Given the description of an element on the screen output the (x, y) to click on. 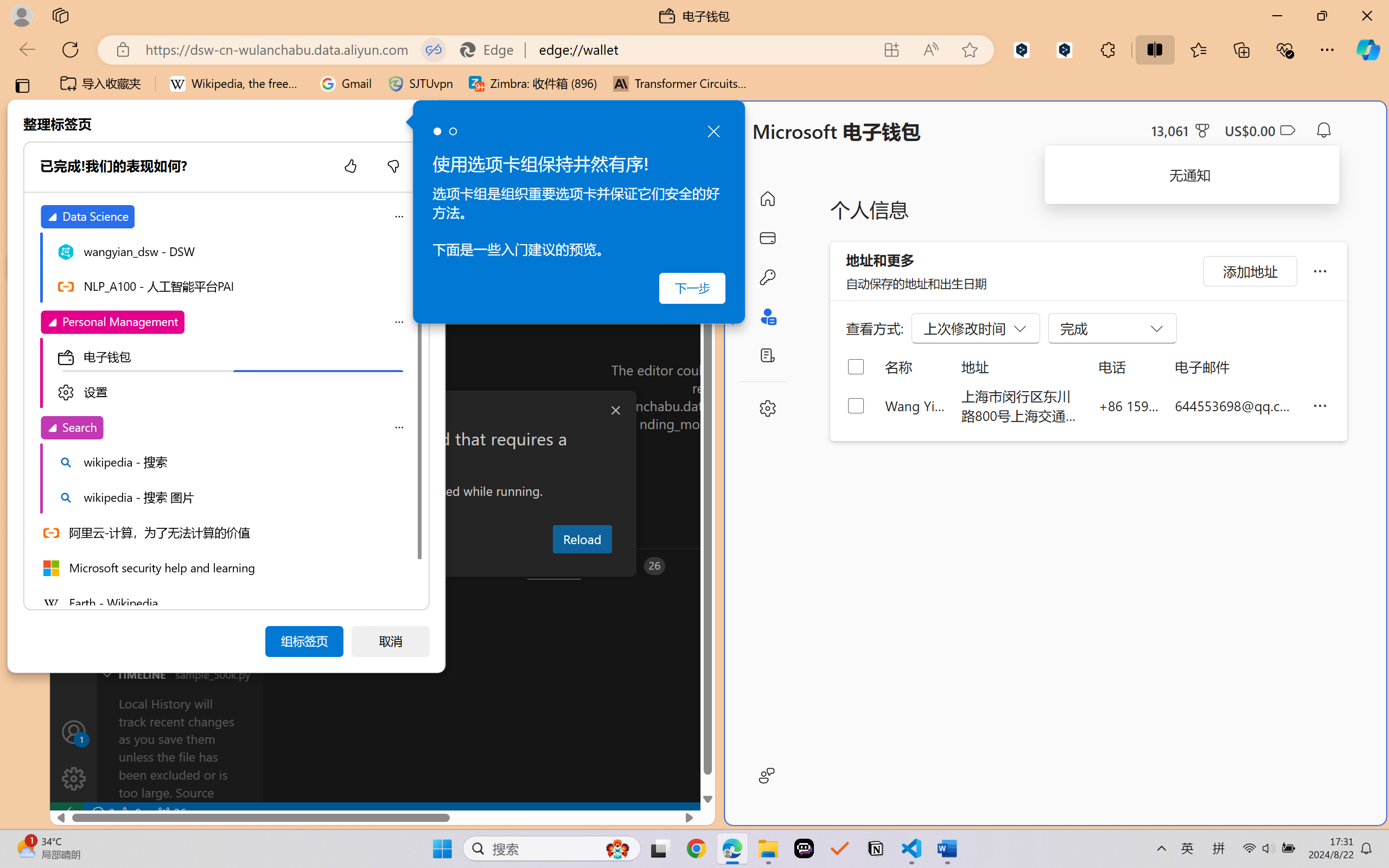
Wang Yian (914, 405)
Microsoft security help and learning (22, 369)
Explorer (Ctrl+Shift+E) (73, 234)
Source Control (Ctrl+Shift+G) (73, 328)
Wikipedia, the free encyclopedia (236, 83)
